Given the description of an element on the screen output the (x, y) to click on. 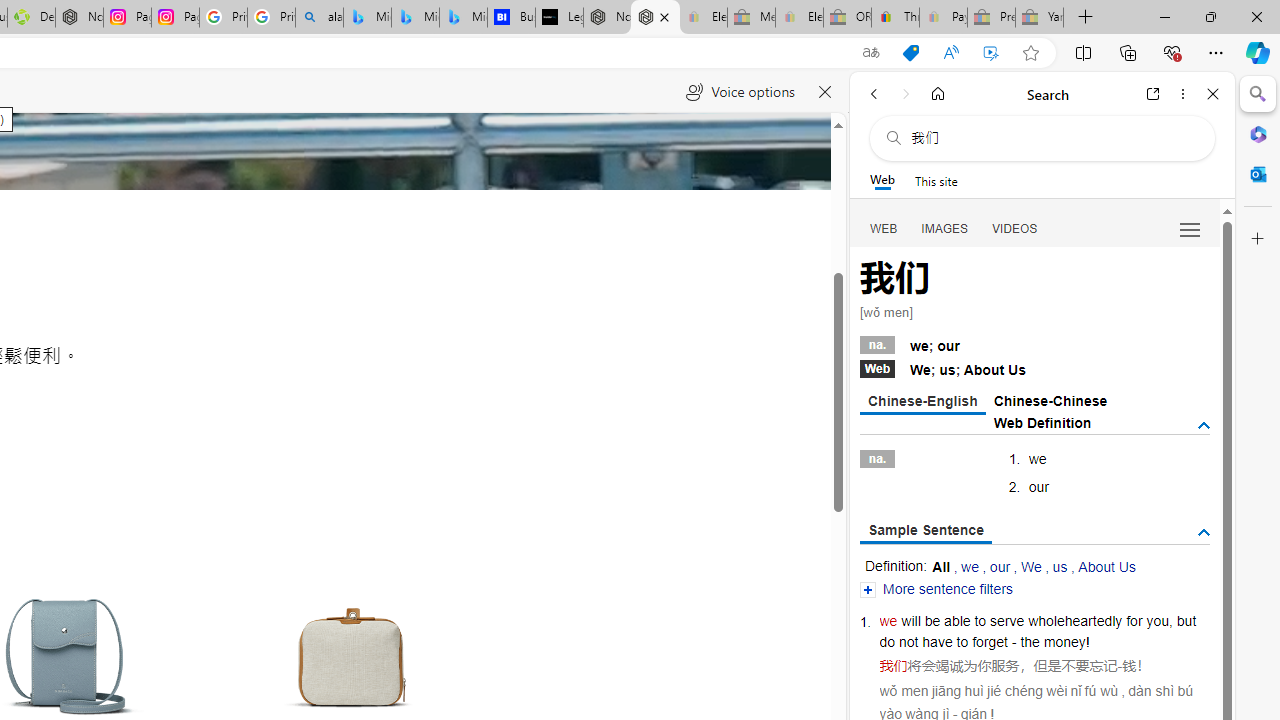
na.we; our (1034, 343)
Press Room - eBay Inc. - Sleeping (991, 17)
Close read aloud (825, 92)
Us (1017, 370)
serve (1007, 620)
AutomationID: tgdef (1203, 425)
